Given the description of an element on the screen output the (x, y) to click on. 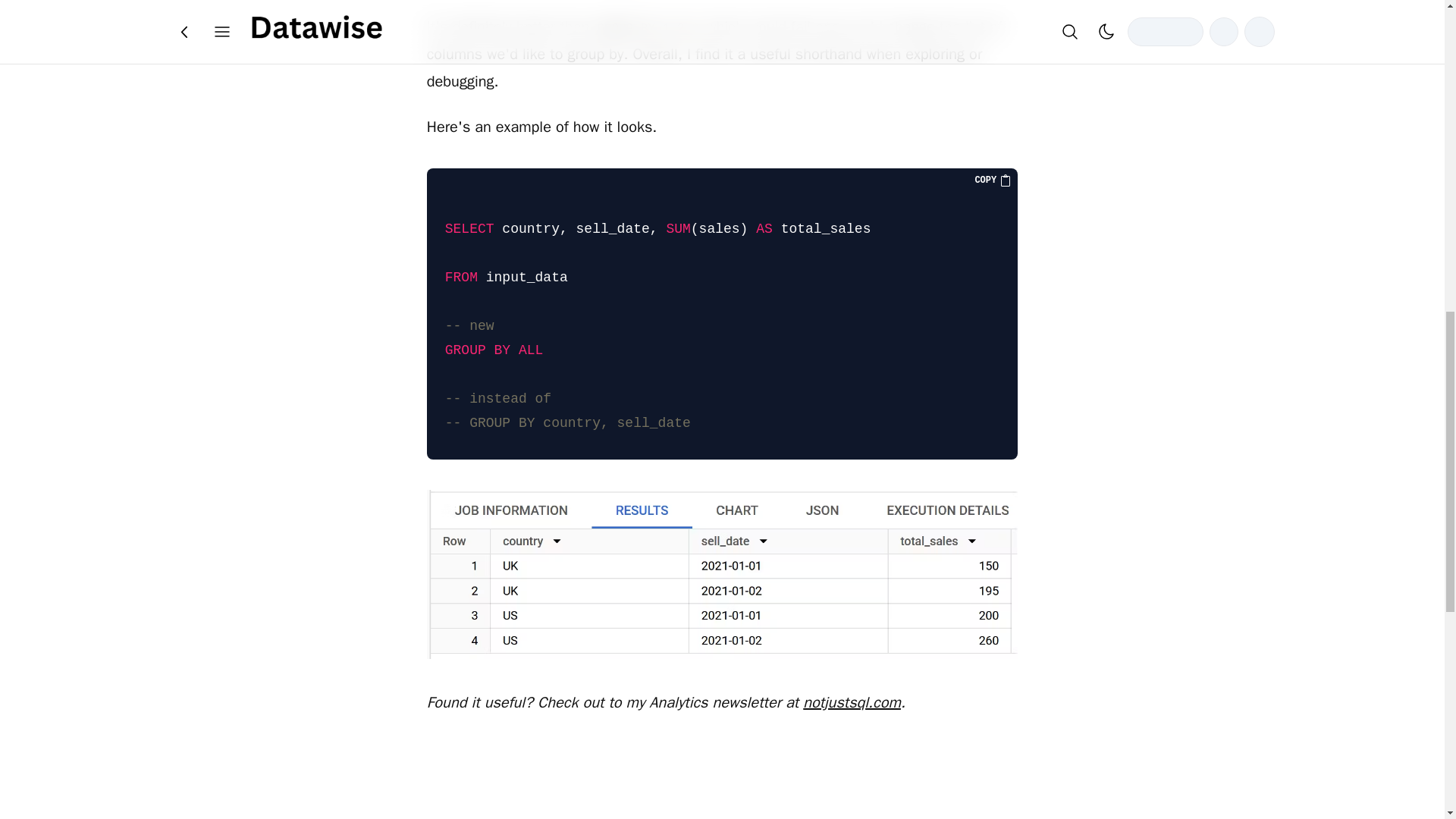
COPY (992, 180)
notjustsql.com (852, 701)
Add Bookmark (721, 24)
